Given the description of an element on the screen output the (x, y) to click on. 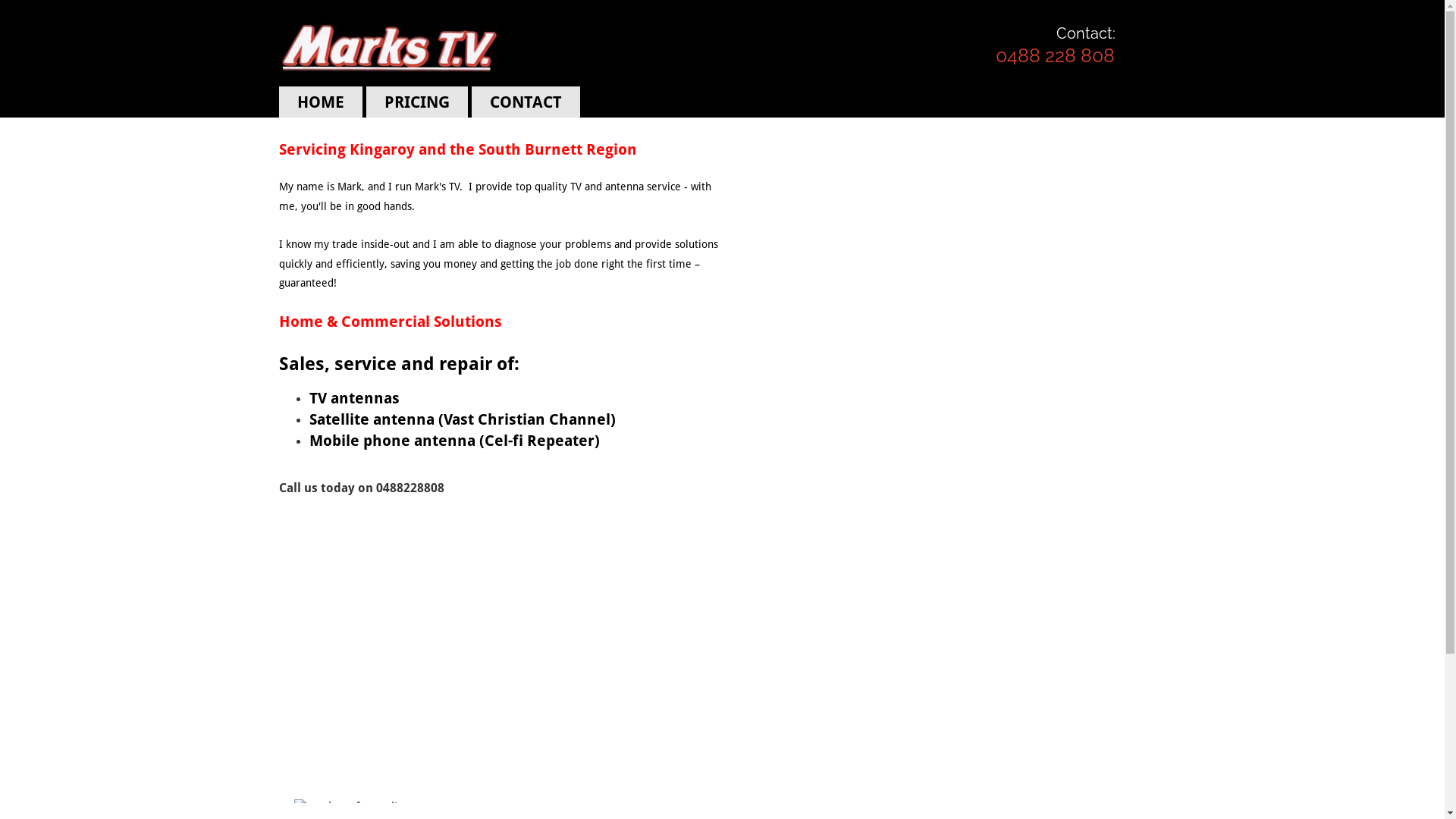
PRICING Element type: text (415, 101)
Marks tv logo Element type: hover (389, 47)
HOME Element type: text (320, 101)
0488 228 808 Element type: text (1054, 54)
marks tv footer line Element type: hover (722, 801)
CONTACT Element type: text (525, 101)
